Given the description of an element on the screen output the (x, y) to click on. 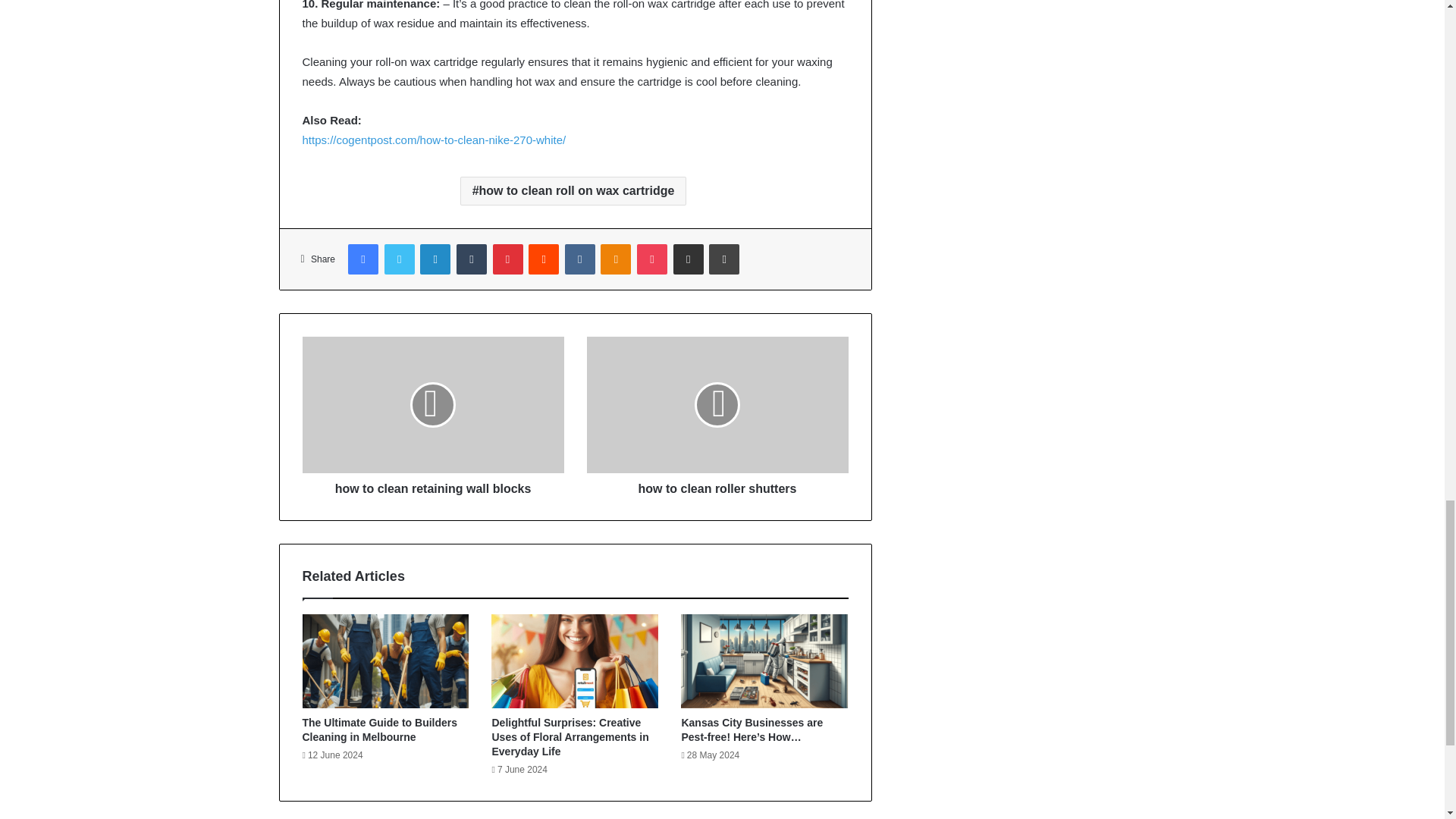
how to clean roll on wax cartridge (573, 190)
